Given the description of an element on the screen output the (x, y) to click on. 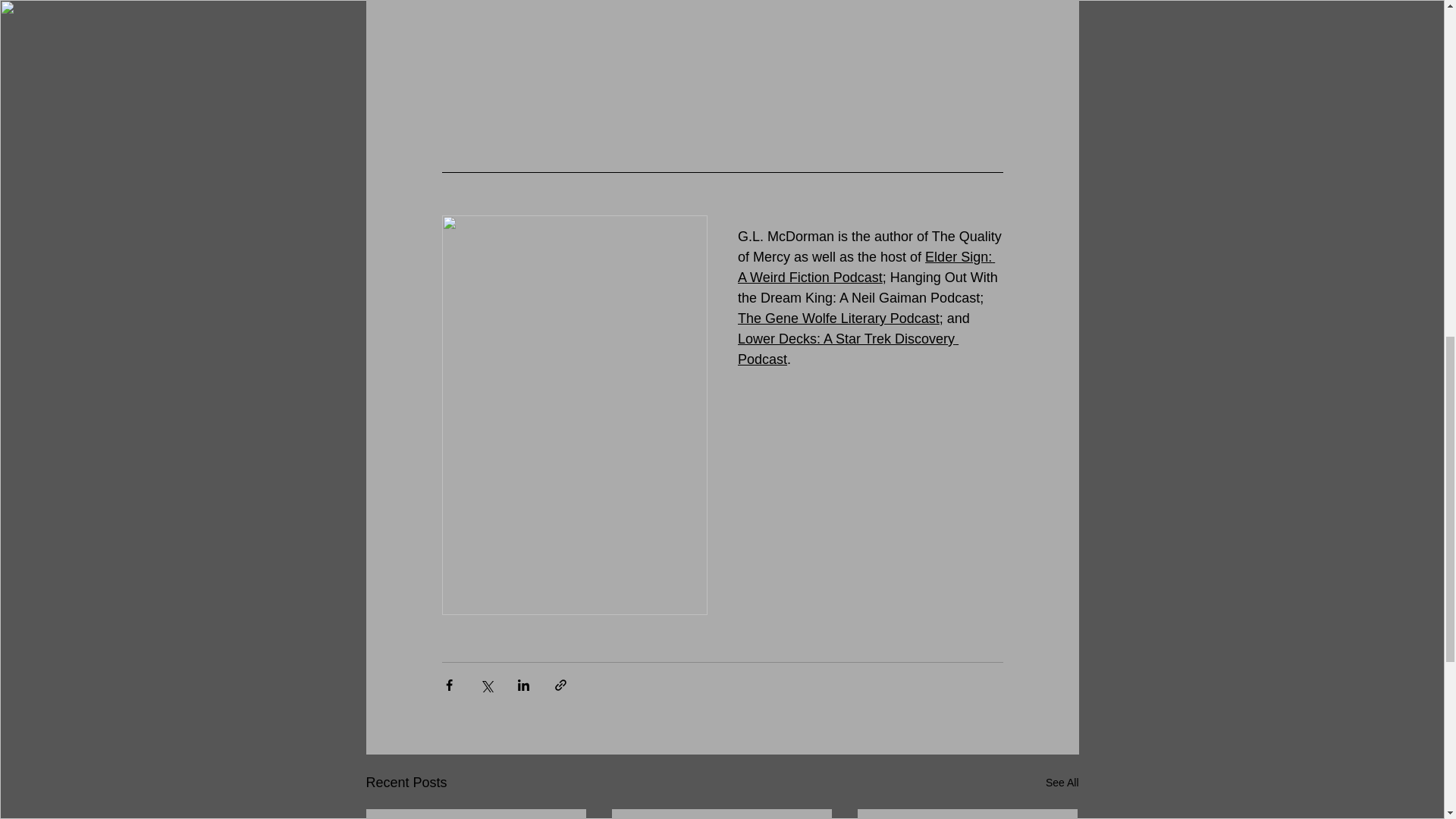
The Quality of Mercy (870, 246)
Lower Decks: A Star Trek Discovery Podcast (847, 348)
The Gene Wolfe Literary Podcast (837, 318)
Elder Sign: A Weird Fiction Podcast (865, 267)
